Given the description of an element on the screen output the (x, y) to click on. 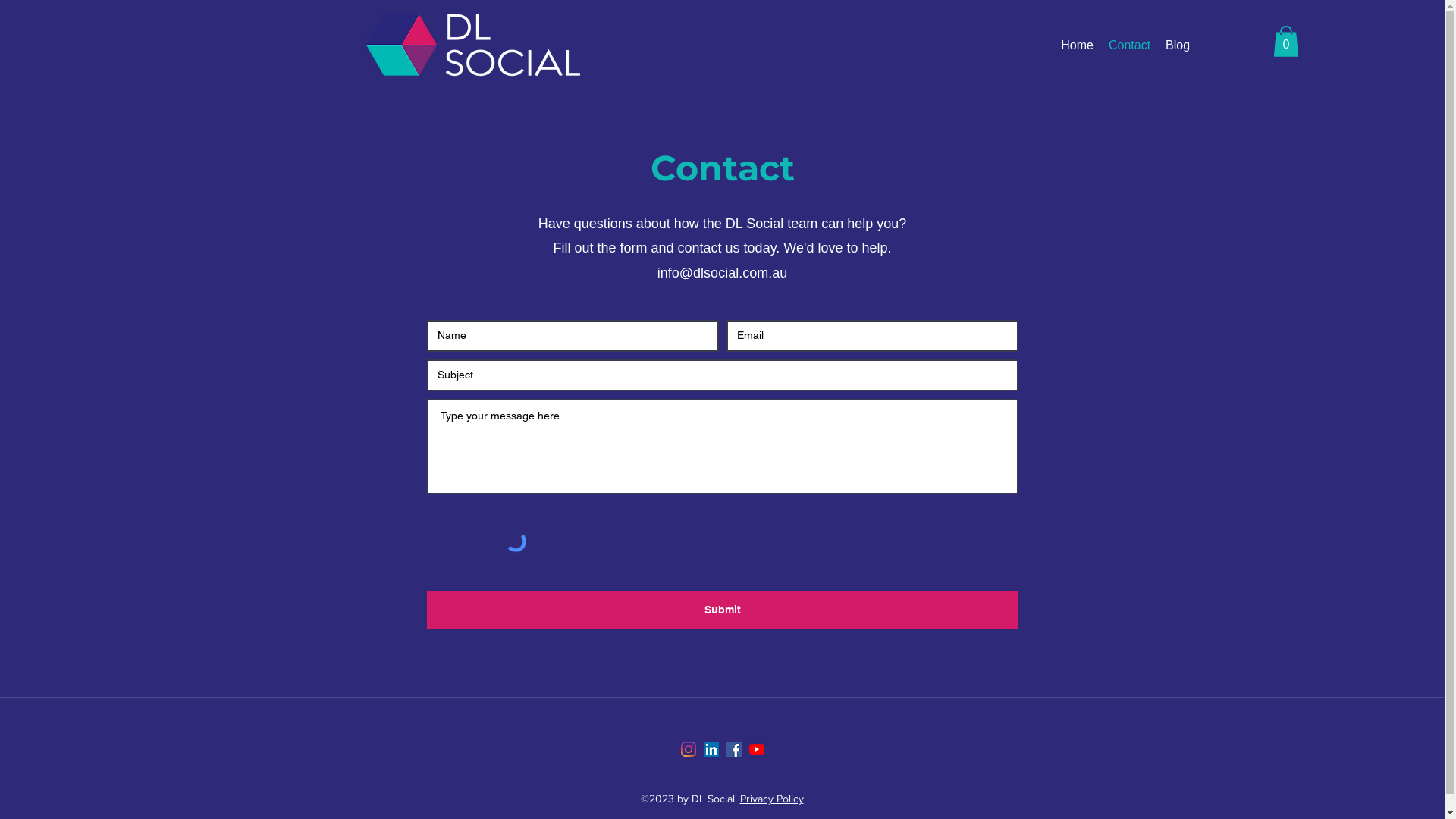
info@dlsocial.com.au Element type: text (722, 272)
Privacy Policy Element type: text (771, 798)
Home Element type: text (1077, 45)
Contact Element type: text (1129, 45)
0 Element type: text (1286, 40)
Blog Element type: text (1177, 45)
Submit Element type: text (721, 610)
